Given the description of an element on the screen output the (x, y) to click on. 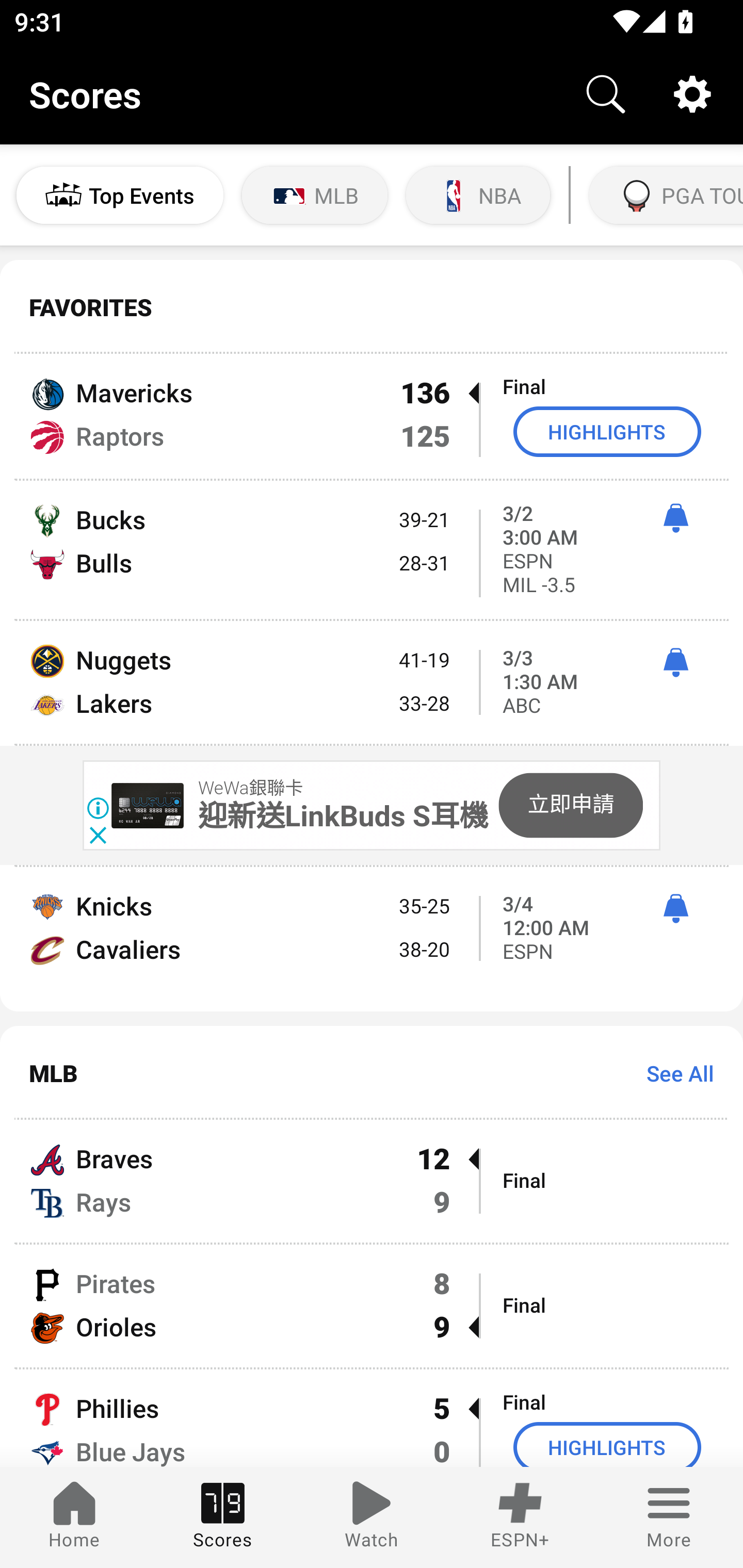
Search (605, 93)
Settings (692, 93)
 Top Events (119, 194)
MLB (314, 194)
NBA (477, 194)
PGA TOUR (664, 194)
FAVORITES (371, 307)
Mavericks 136  Final Raptors 125 HIGHLIGHTS (371, 416)
HIGHLIGHTS (607, 431)
ì (675, 517)
Nuggets 41-19 Lakers 33-28 3/3 1:30 AM ì ABC (371, 681)
ì (675, 662)
Knicks 35-25 Cavaliers 38-20 3/4 12:00 AM ì ESPN (371, 939)
ì (675, 908)
MLB See All (371, 1072)
See All (673, 1073)
Braves 12  Rays 9 Final (371, 1180)
Pirates 8 Orioles 9  Final (371, 1305)
Phillies 5  Final Blue Jays 0 HIGHLIGHTS (371, 1417)
HIGHLIGHTS (607, 1444)
Home (74, 1517)
Watch (371, 1517)
ESPN+ (519, 1517)
More (668, 1517)
